Given the description of an element on the screen output the (x, y) to click on. 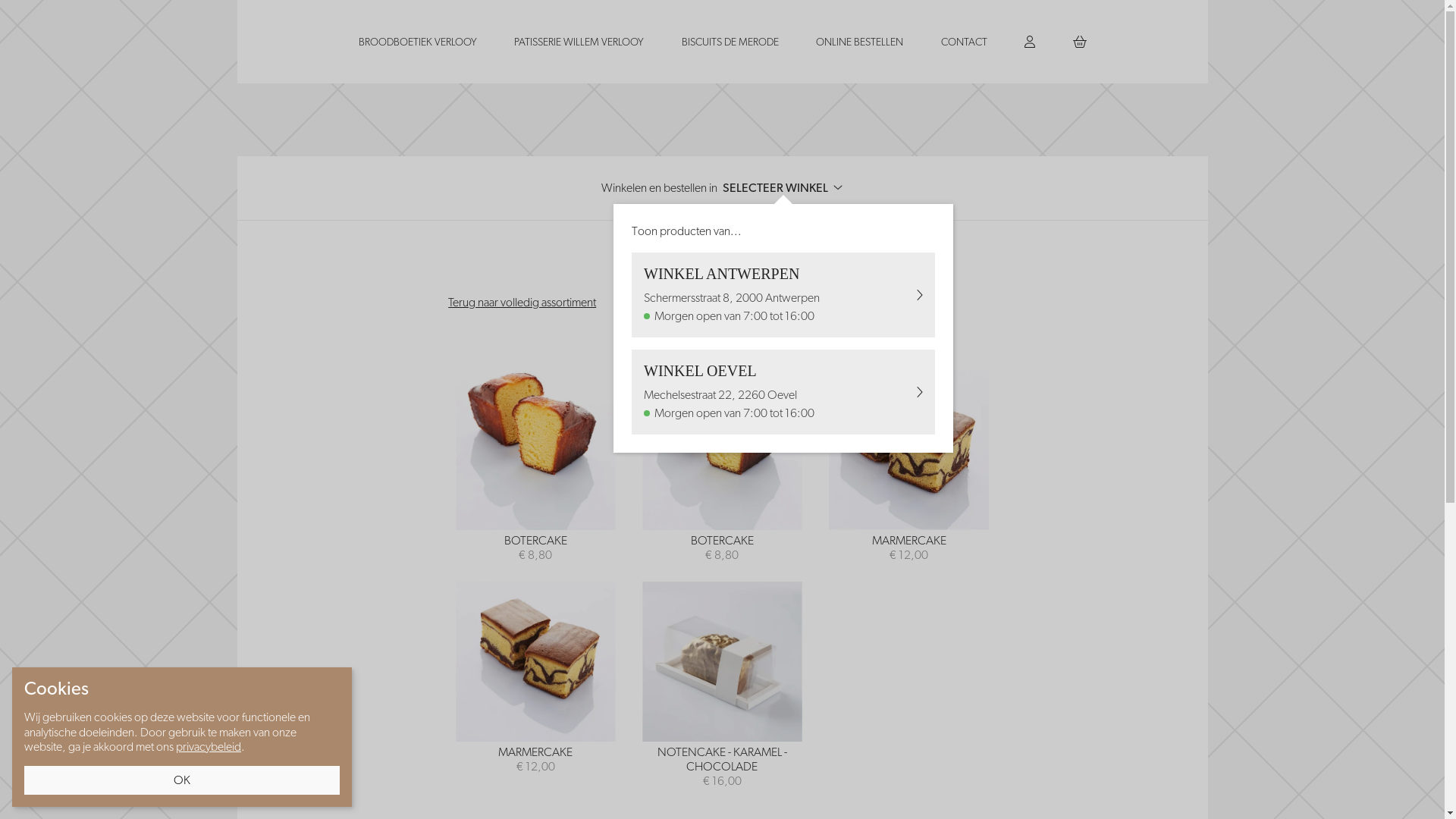
BROODBOETIEK VERLOOY Element type: text (416, 41)
Winkelmand Element type: hover (1079, 41)
PATISSERIE WILLEM VERLOOY Element type: text (578, 41)
OK Element type: text (181, 779)
Account Element type: hover (1029, 41)
CONTACT Element type: text (963, 41)
privacybeleid Element type: text (208, 746)
BISCUITS DE MERODE Element type: text (729, 41)
Terug naar volledig assortiment Element type: text (522, 301)
ONLINE BESTELLEN Element type: text (859, 41)
